Given the description of an element on the screen output the (x, y) to click on. 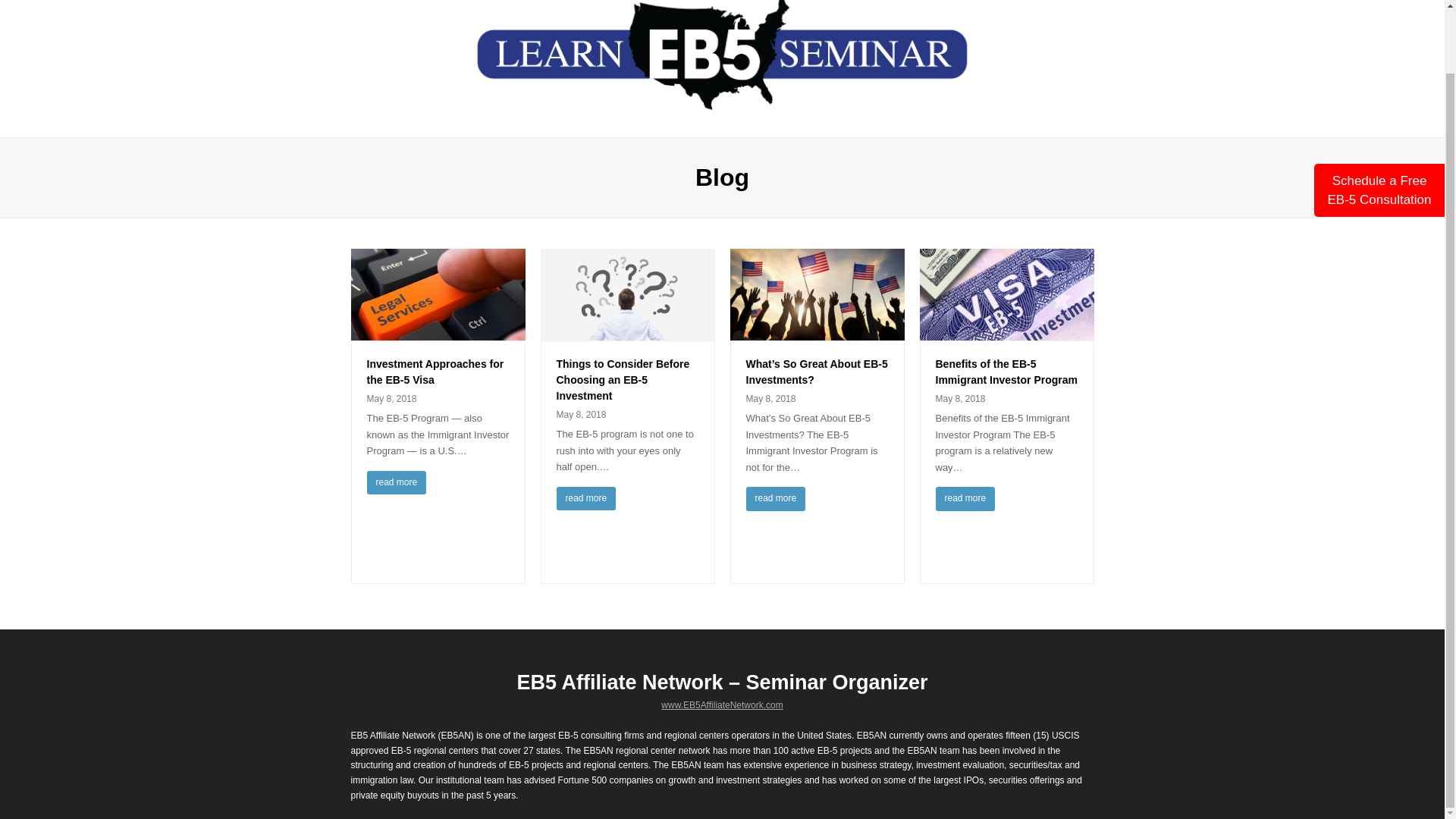
Benefits of the EB-5 Immigrant Investor Program (1005, 331)
Investment Approaches for the EB-5 Visa (434, 371)
read more (965, 498)
read more (396, 482)
Things to Consider Before Choosing an EB-5 Investment (627, 331)
read more (585, 498)
read more (775, 498)
Things to Consider Before Choosing an EB-5 Investment (623, 379)
Investment Approaches for the EB-5 Visa (437, 331)
Benefits of the EB-5 Immigrant Investor Program (1007, 371)
www.EB5AffiliateNetwork.com (722, 705)
